Given the description of an element on the screen output the (x, y) to click on. 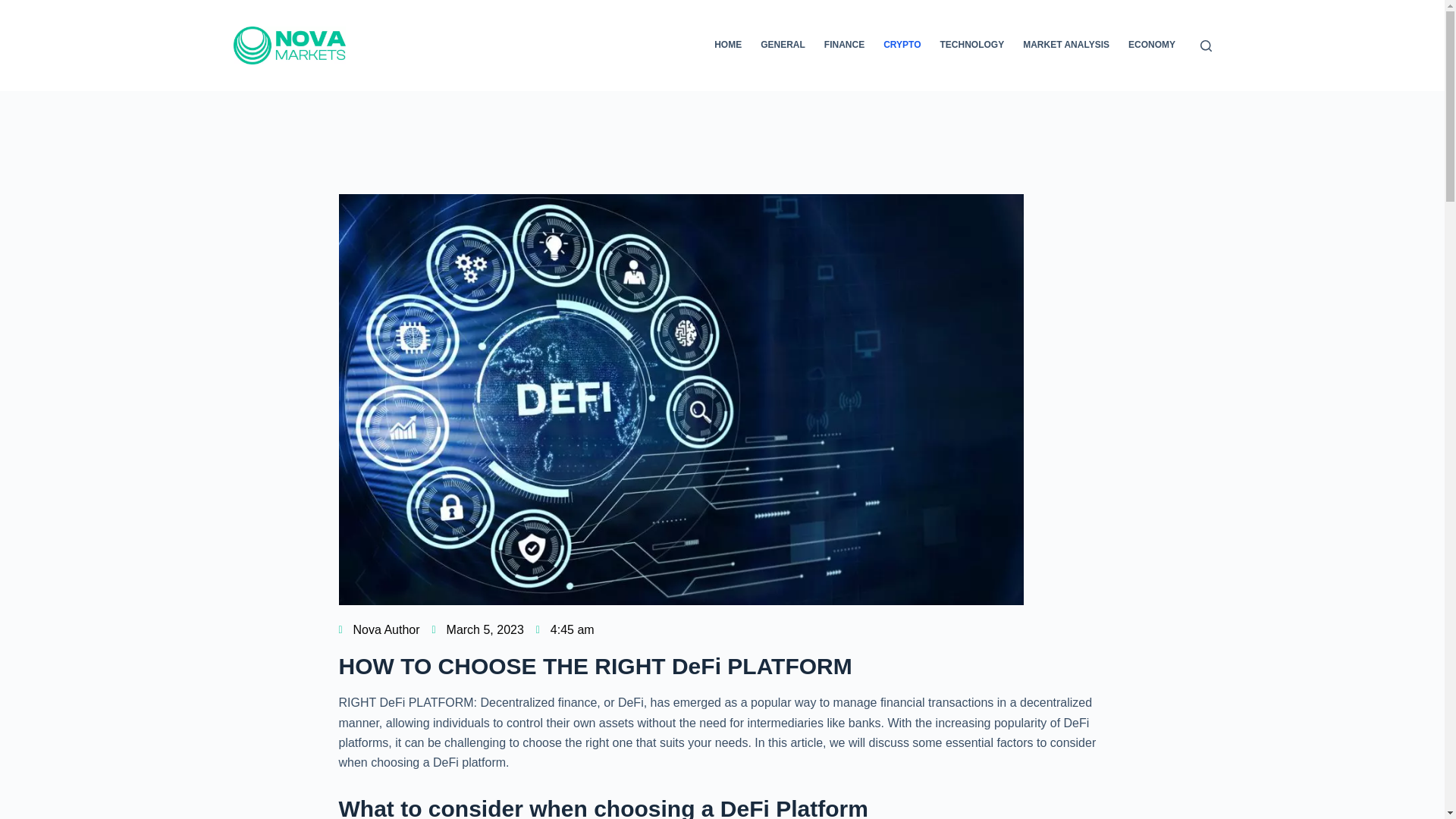
MARKET ANALYSIS (1066, 45)
Skip to content (15, 7)
March 5, 2023 (478, 629)
TECHNOLOGY (971, 45)
Nova Author (378, 629)
